Given the description of an element on the screen output the (x, y) to click on. 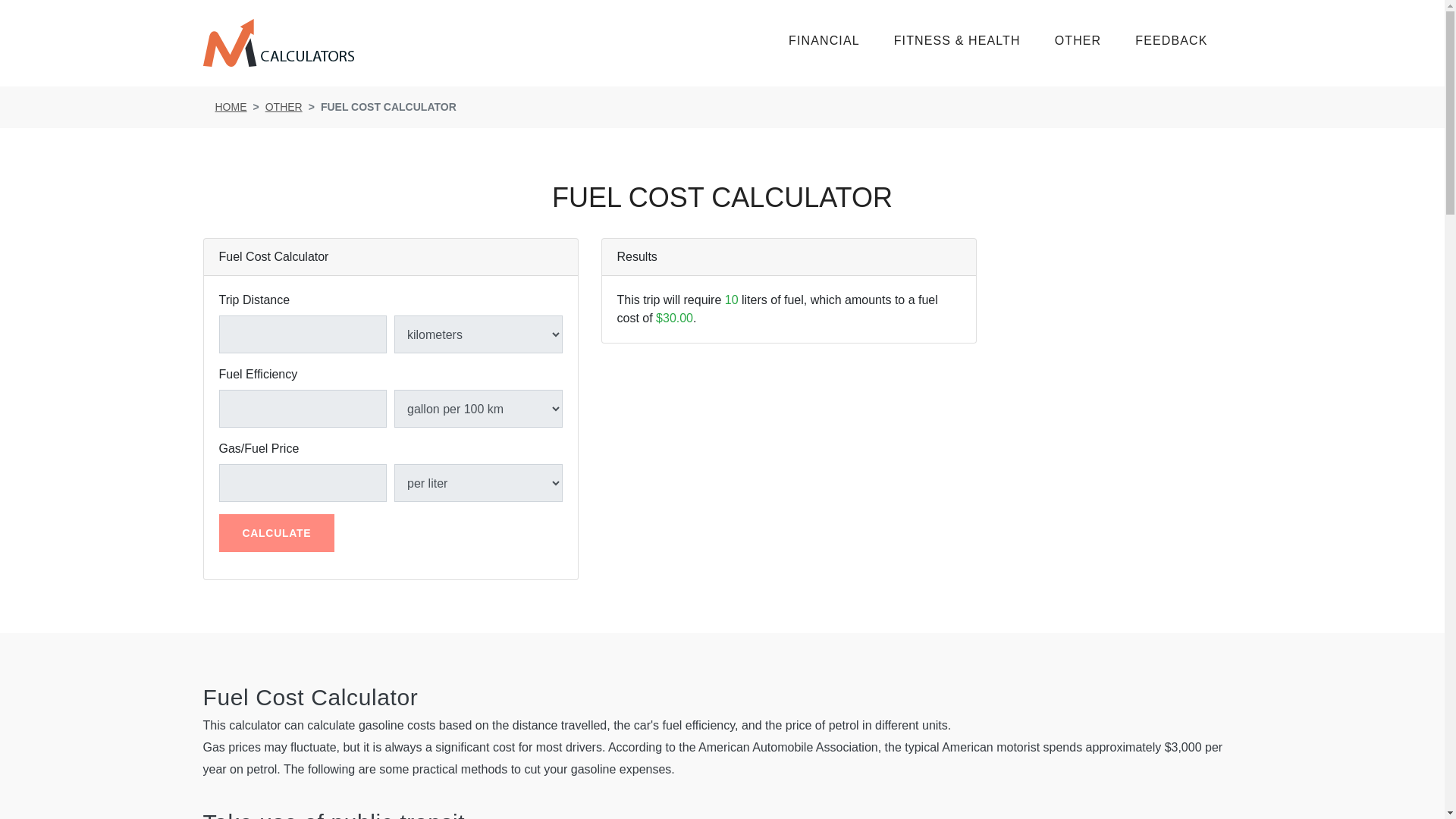
FINANCIAL (841, 40)
FEEDBACK (1188, 40)
OTHER (283, 106)
CALCULATE (276, 533)
OTHER (1094, 40)
HOME (231, 106)
